Given the description of an element on the screen output the (x, y) to click on. 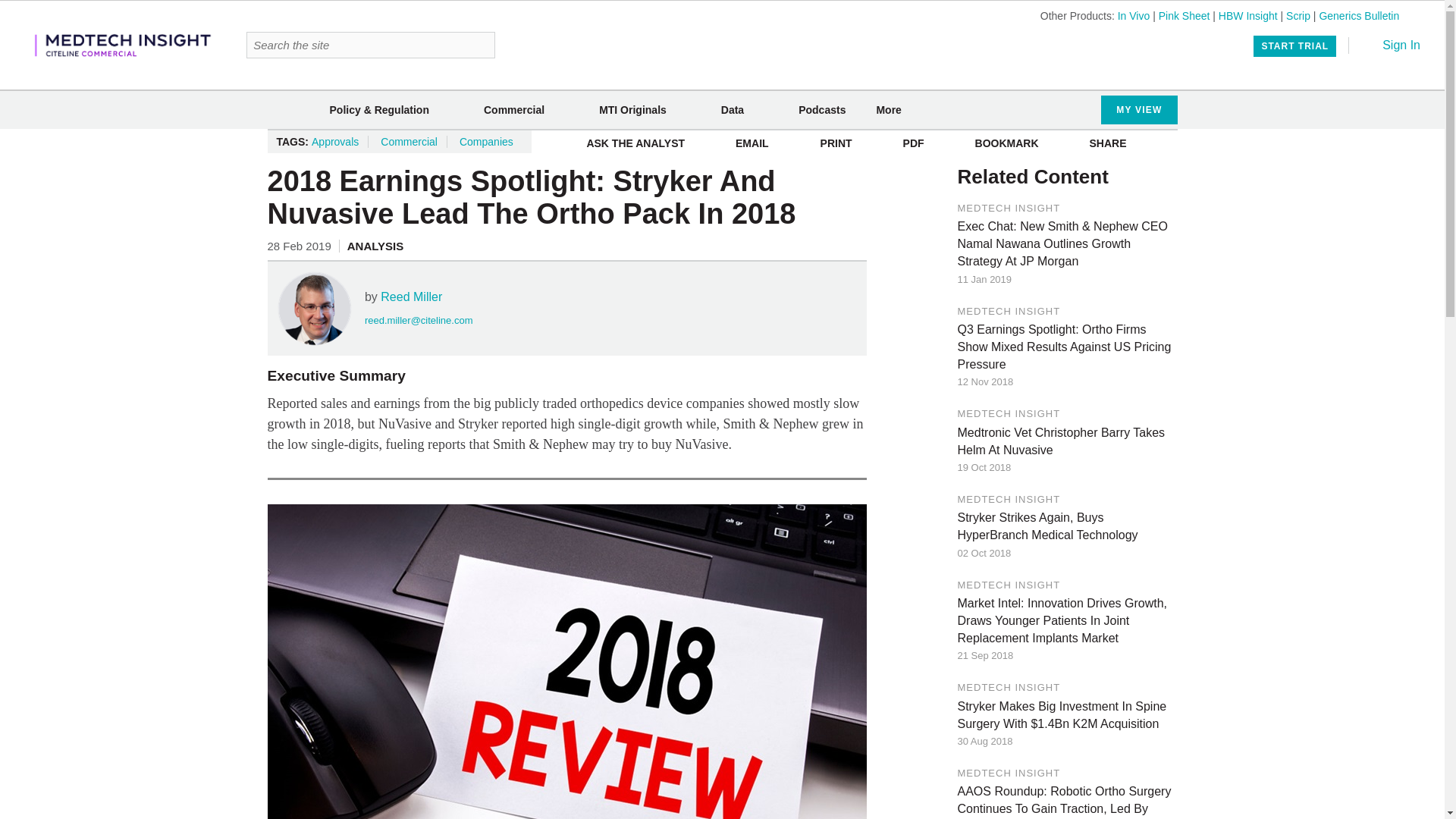
In Vivo (1134, 15)
Generics Bulletin (1359, 15)
HBW Insight (1248, 15)
Sign In (1391, 44)
Commercial (513, 110)
Scrip (1297, 15)
START TRIAL (1294, 46)
Pink Sheet (1183, 15)
